Given the description of an element on the screen output the (x, y) to click on. 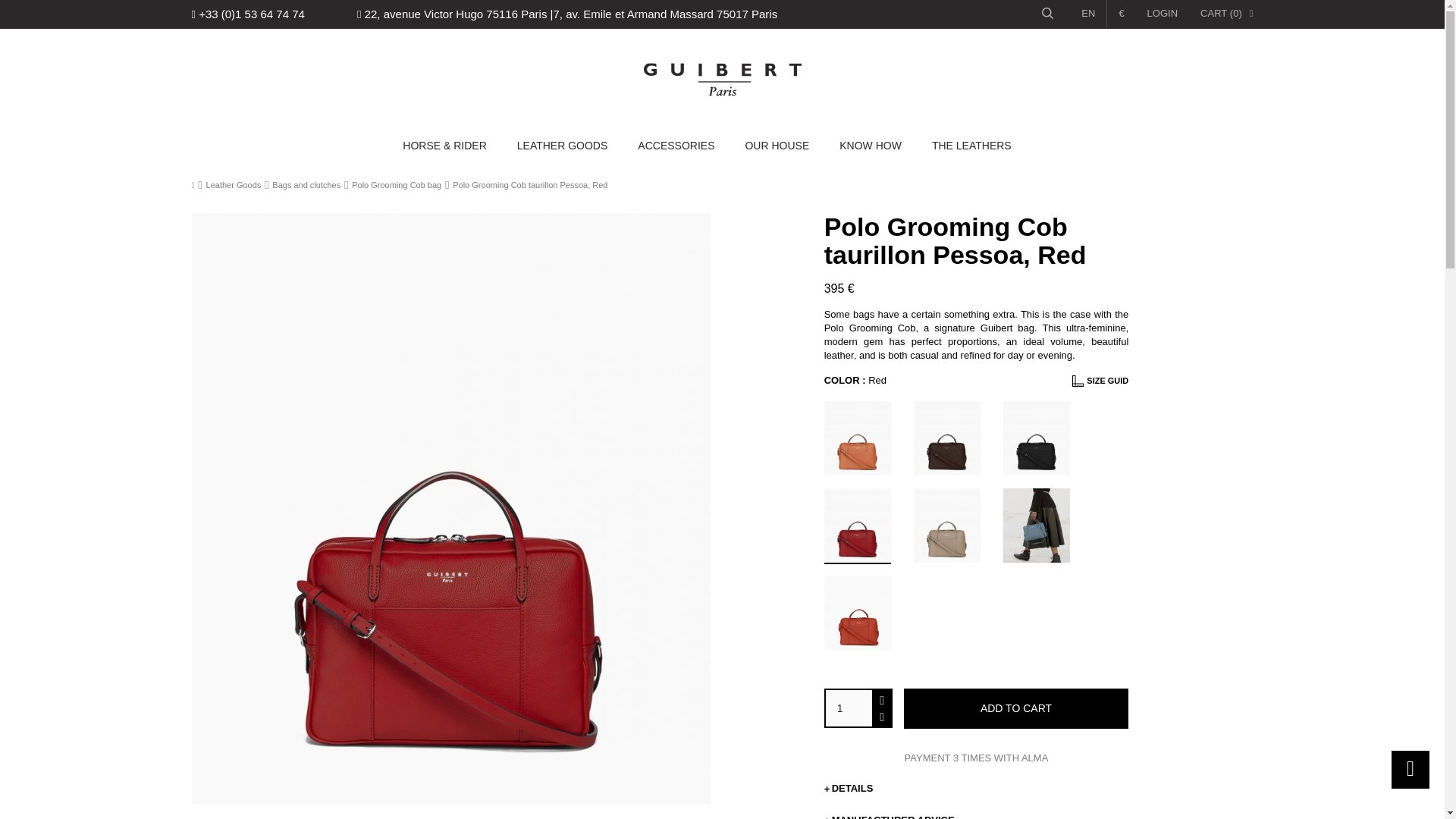
1 (850, 708)
View my shopping cart (1225, 13)
LOGIN (1162, 13)
Log in to your customer account (1162, 13)
LEATHER GOODS (562, 145)
Guibert Paris (721, 79)
